Given the description of an element on the screen output the (x, y) to click on. 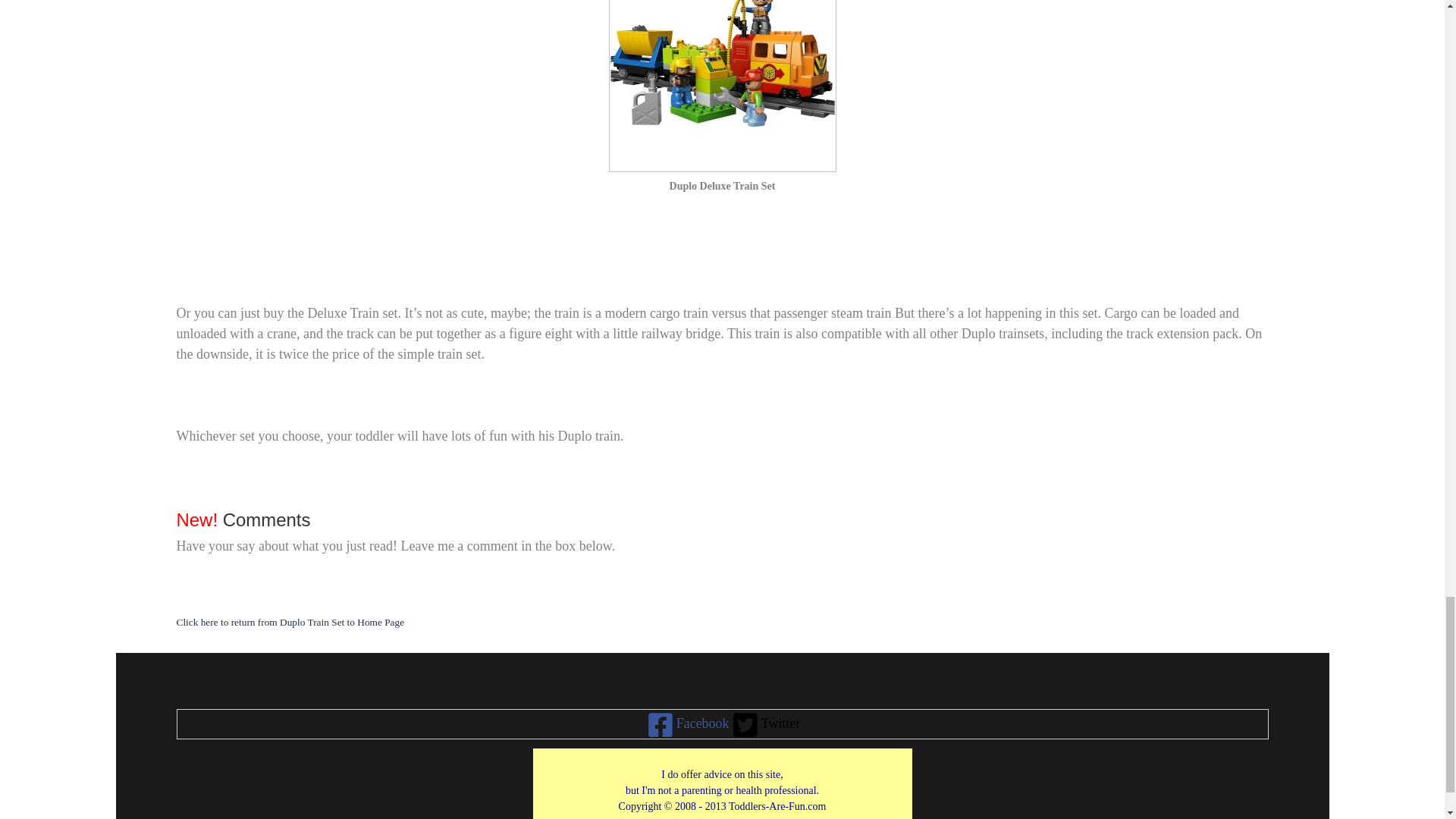
Click here to return from Duplo Train Set to Home Page (290, 620)
work at home (722, 789)
Twitter (764, 724)
Facebook (687, 724)
